Given the description of an element on the screen output the (x, y) to click on. 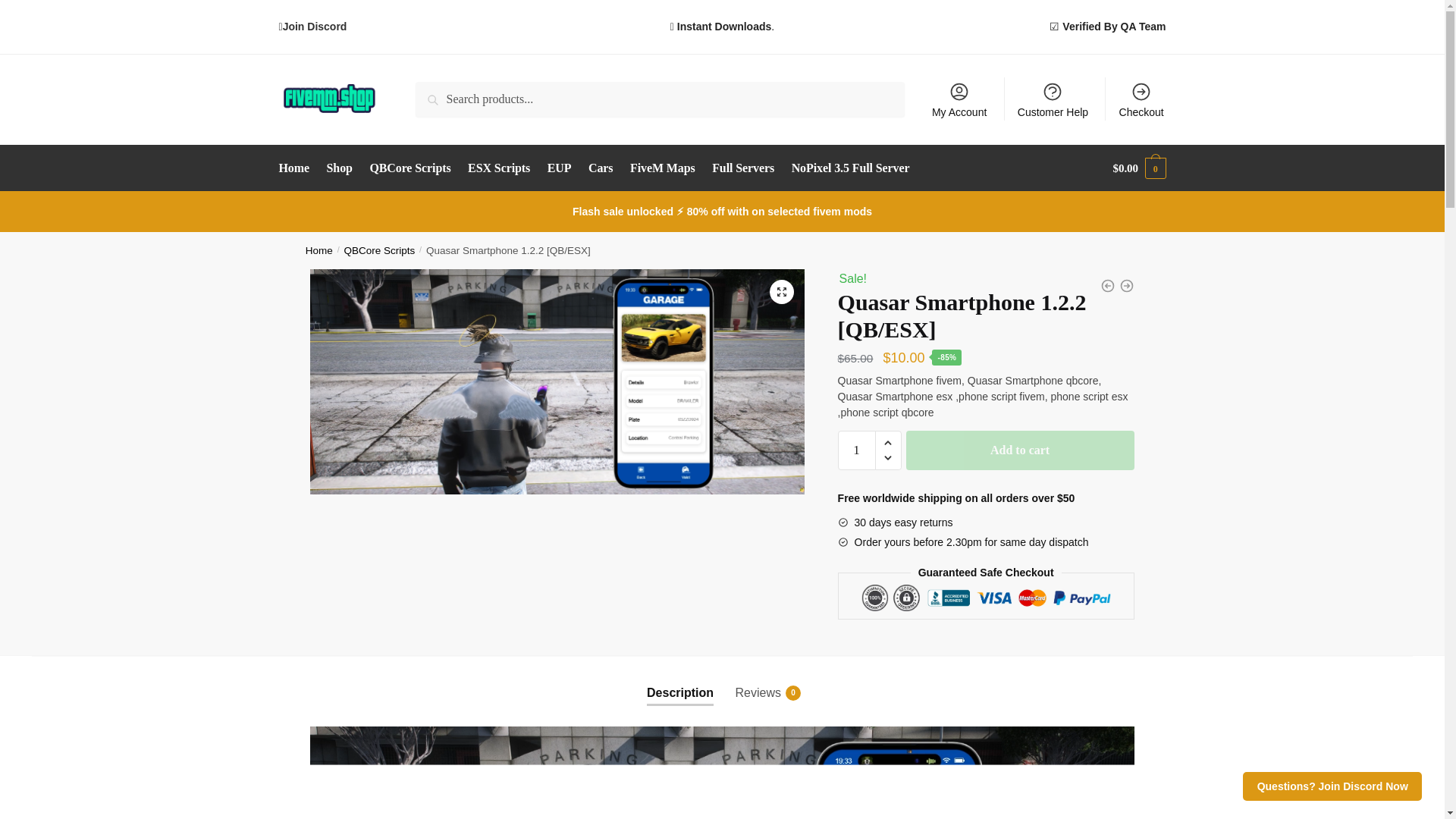
Questions? Join Discord Now (1332, 786)
Full Servers (742, 167)
View your shopping cart (1139, 167)
Checkout (1141, 98)
Cars (600, 167)
NoPixel 3.5 Full Server (849, 167)
QBCore Scripts (378, 250)
Customer Help (1053, 98)
Search (436, 92)
Add to cart (1019, 450)
Join Discord (314, 26)
My Account (959, 98)
EUP (559, 167)
1 (857, 450)
Home (319, 250)
